Given the description of an element on the screen output the (x, y) to click on. 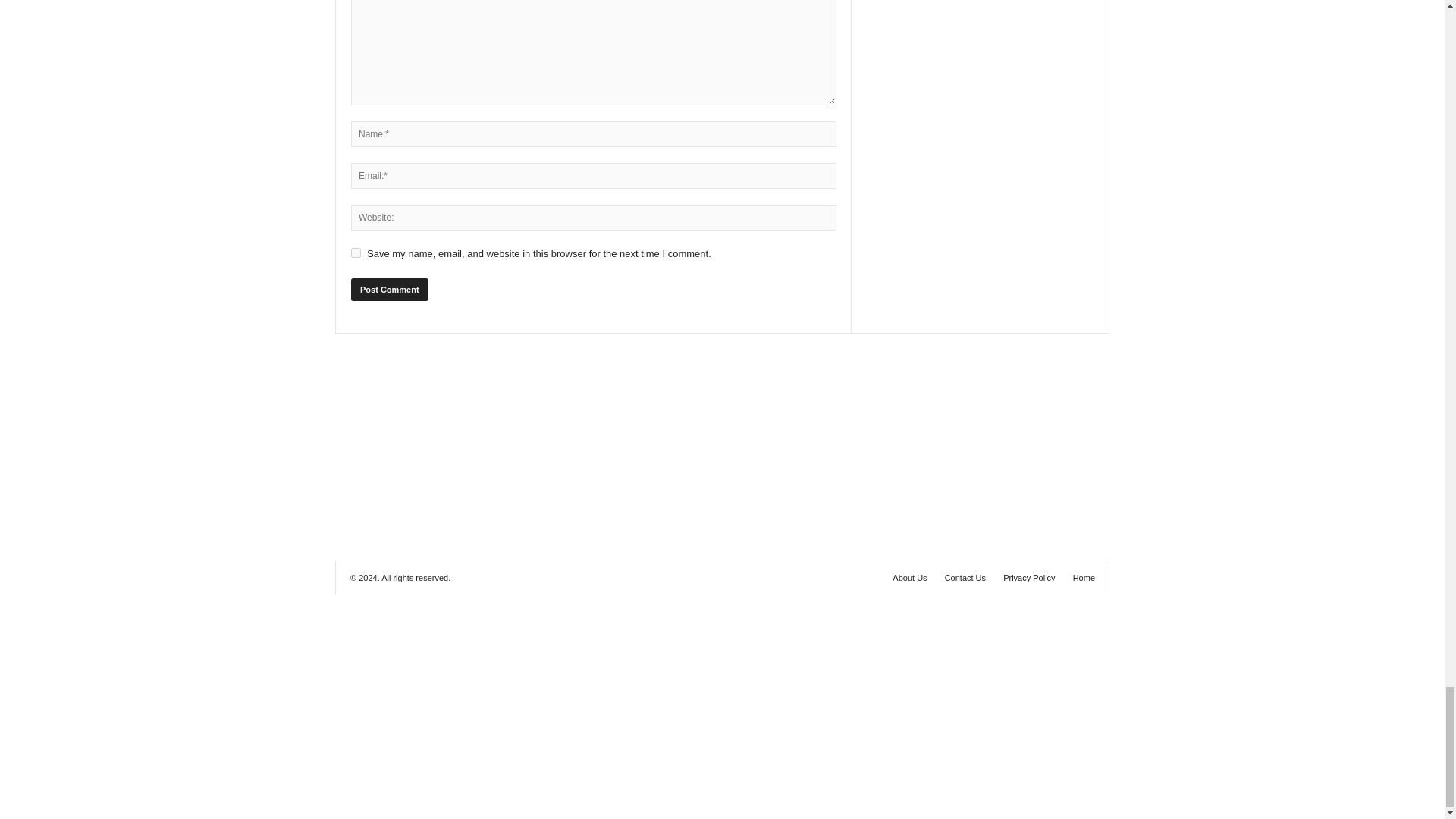
yes (355, 252)
Privacy Policy (1028, 577)
Post Comment (389, 289)
About Us (909, 577)
Home (1079, 577)
Contact Us (964, 577)
Post Comment (389, 289)
